Given the description of an element on the screen output the (x, y) to click on. 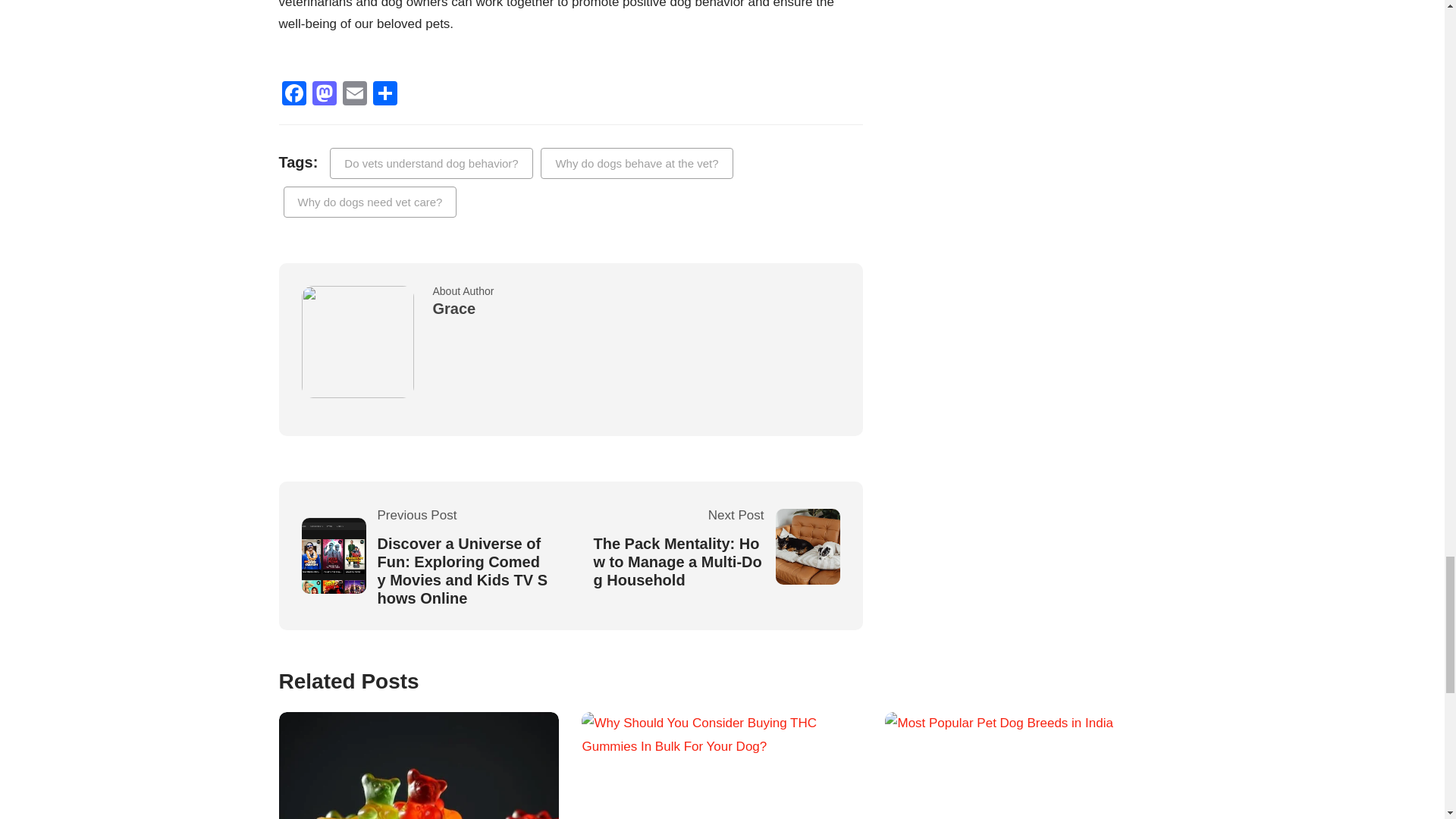
Facebook (293, 94)
Email (354, 94)
Mastodon (323, 94)
